Given the description of an element on the screen output the (x, y) to click on. 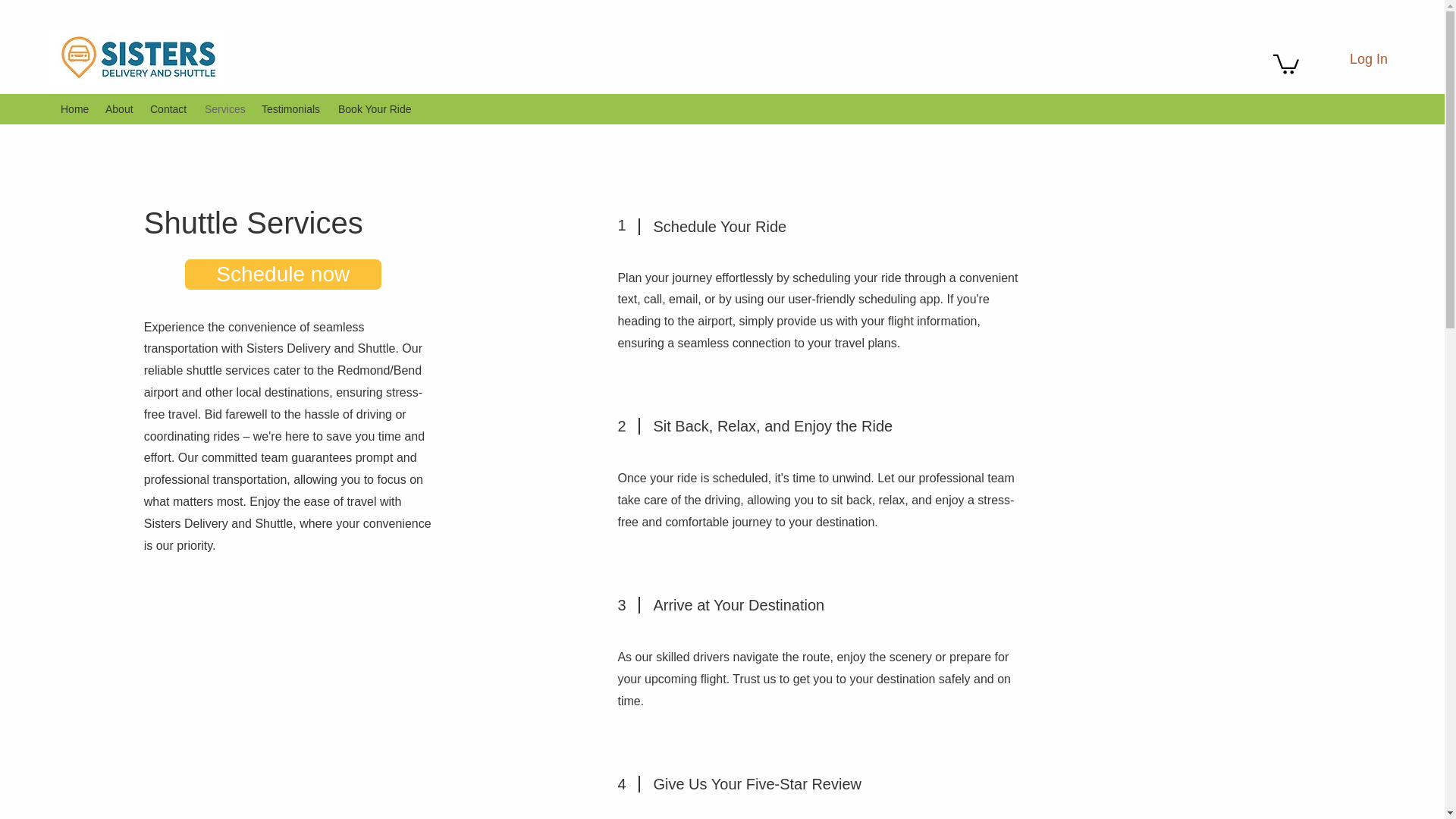
Log In (1337, 59)
Schedule now (282, 274)
Services (224, 108)
Testimonials (291, 108)
Book Your Ride (375, 108)
Contact (169, 108)
Home (74, 108)
About (119, 108)
